Given the description of an element on the screen output the (x, y) to click on. 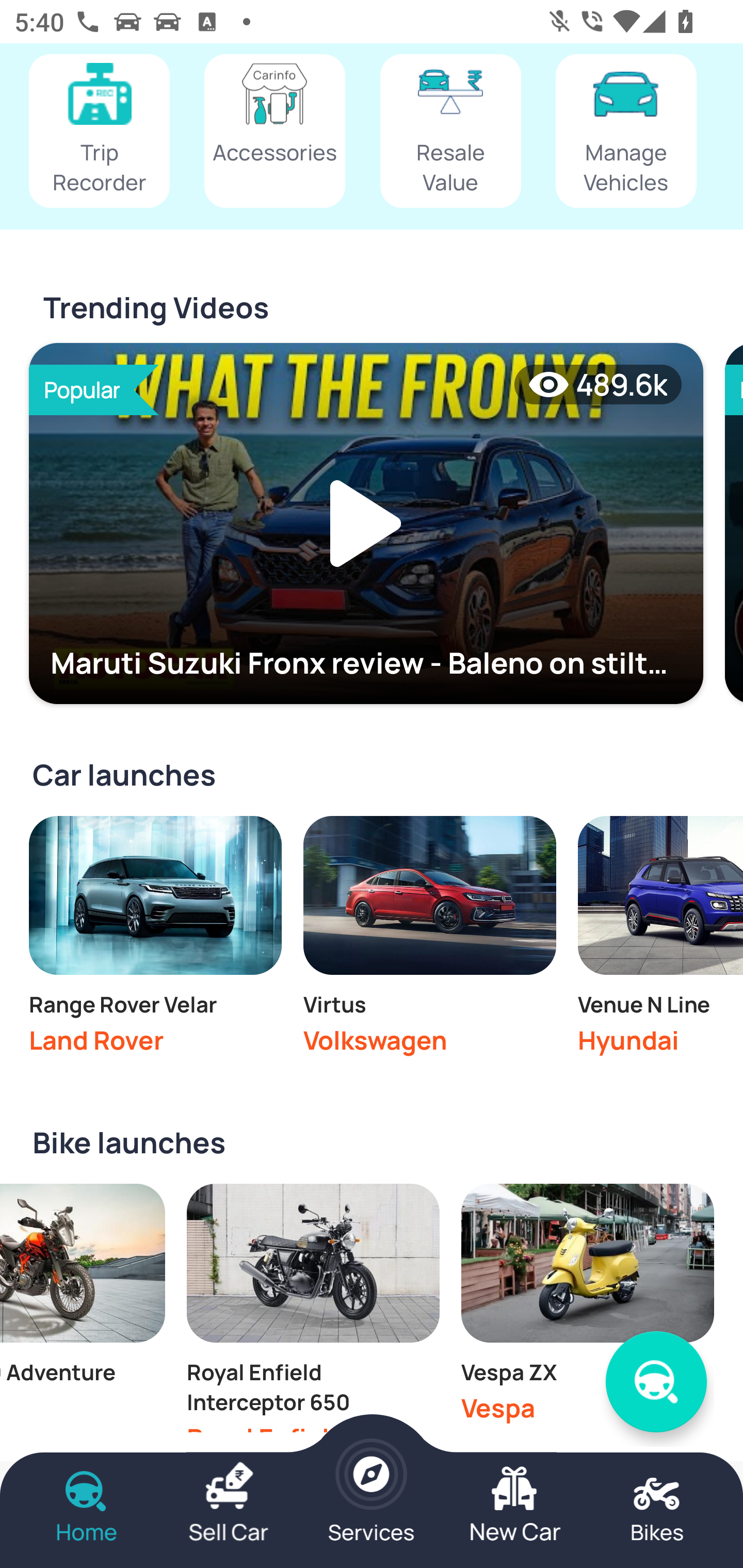
Trip Recorder (98, 131)
Accessories (274, 131)
Resale
Value (450, 131)
Manage
Vehicles (625, 131)
Range Rover Velar Land Rover (154, 939)
Virtus Volkswagen (429, 939)
Venue N Line Hyundai (660, 939)
KTM 390 Adventure KTM (82, 1307)
Royal Enfield Interceptor 650 Royal Enfield (312, 1307)
Vespa ZX Vespa (587, 1307)
